Given the description of an element on the screen output the (x, y) to click on. 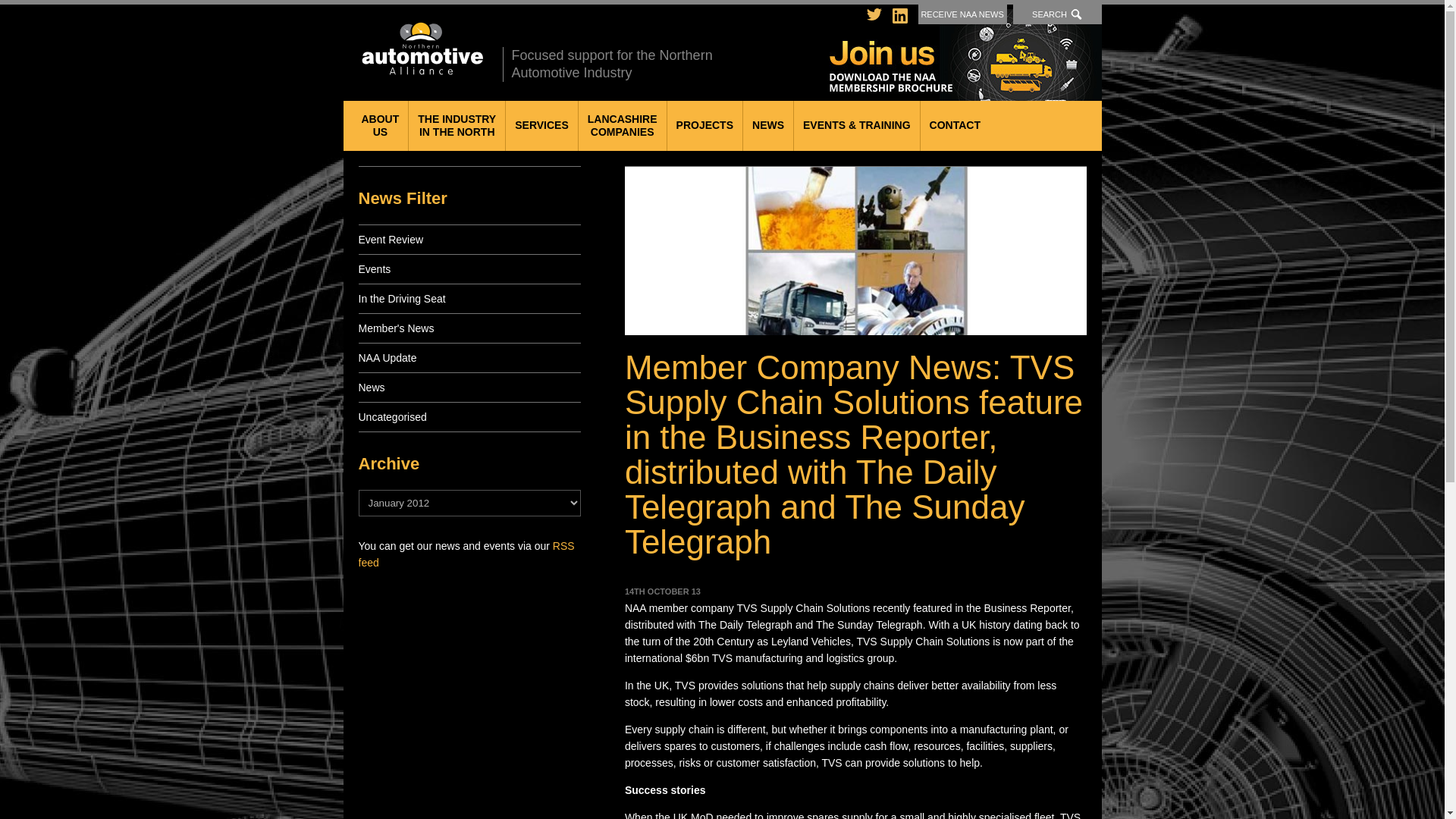
Join us - Download the NAA membership brochure (965, 54)
PROJECTS (622, 125)
SEARCH (704, 125)
Northern Automotive Alliance (1057, 14)
SERVICES (420, 49)
RECEIVE NAA NEWS (457, 125)
